Given the description of an element on the screen output the (x, y) to click on. 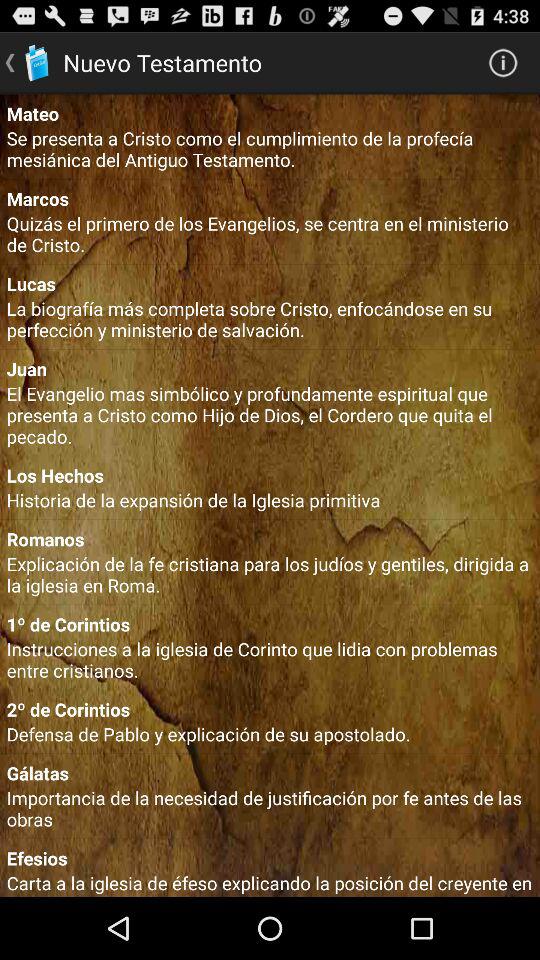
click app above the efesios icon (269, 808)
